Given the description of an element on the screen output the (x, y) to click on. 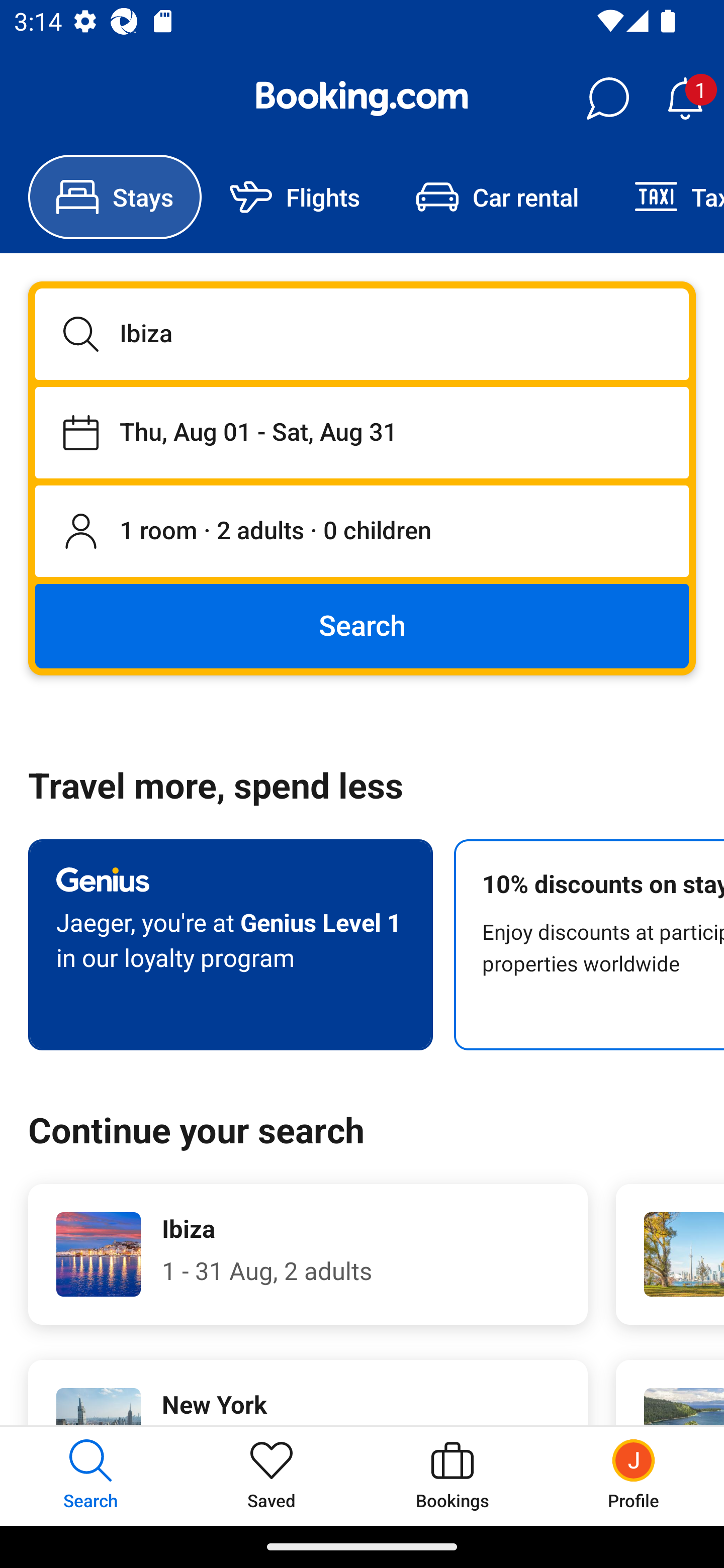
Messages (607, 98)
Notifications (685, 98)
Stays (114, 197)
Flights (294, 197)
Car rental (497, 197)
Taxi (665, 197)
Ibiza (361, 333)
Staying from Thu, Aug 01 until Sat, Aug 31 (361, 432)
1 room, 2 adults, 0 children (361, 531)
Search (361, 625)
Ibiza 1 - 31 Aug, 2 adults (307, 1253)
Saved (271, 1475)
Bookings (452, 1475)
Profile (633, 1475)
